Given the description of an element on the screen output the (x, y) to click on. 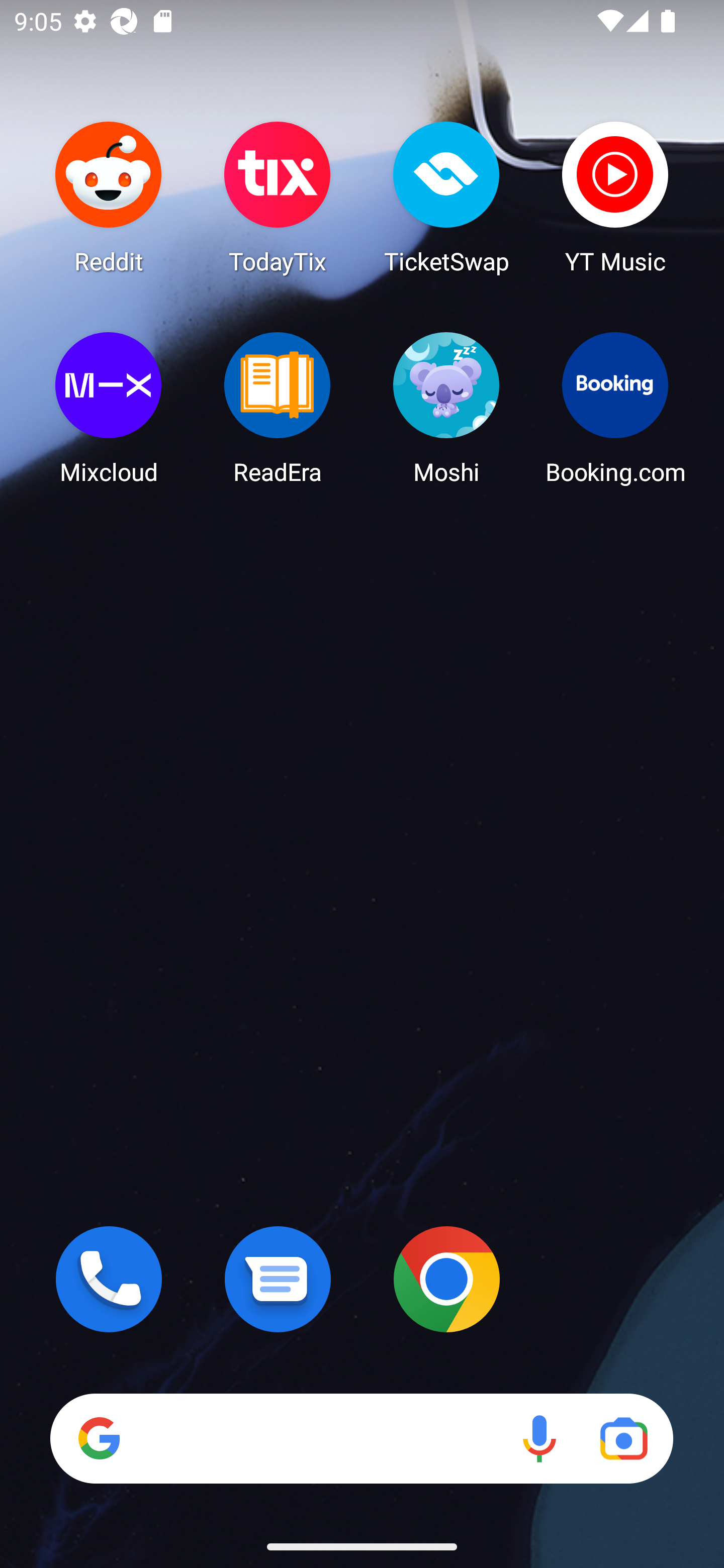
Reddit (108, 196)
TodayTix (277, 196)
TicketSwap (445, 196)
YT Music (615, 196)
Mixcloud (108, 407)
ReadEra (277, 407)
Moshi (445, 407)
Booking.com (615, 407)
Phone (108, 1279)
Messages (277, 1279)
Chrome (446, 1279)
Search Voice search Google Lens (361, 1438)
Voice search (539, 1438)
Google Lens (623, 1438)
